Given the description of an element on the screen output the (x, y) to click on. 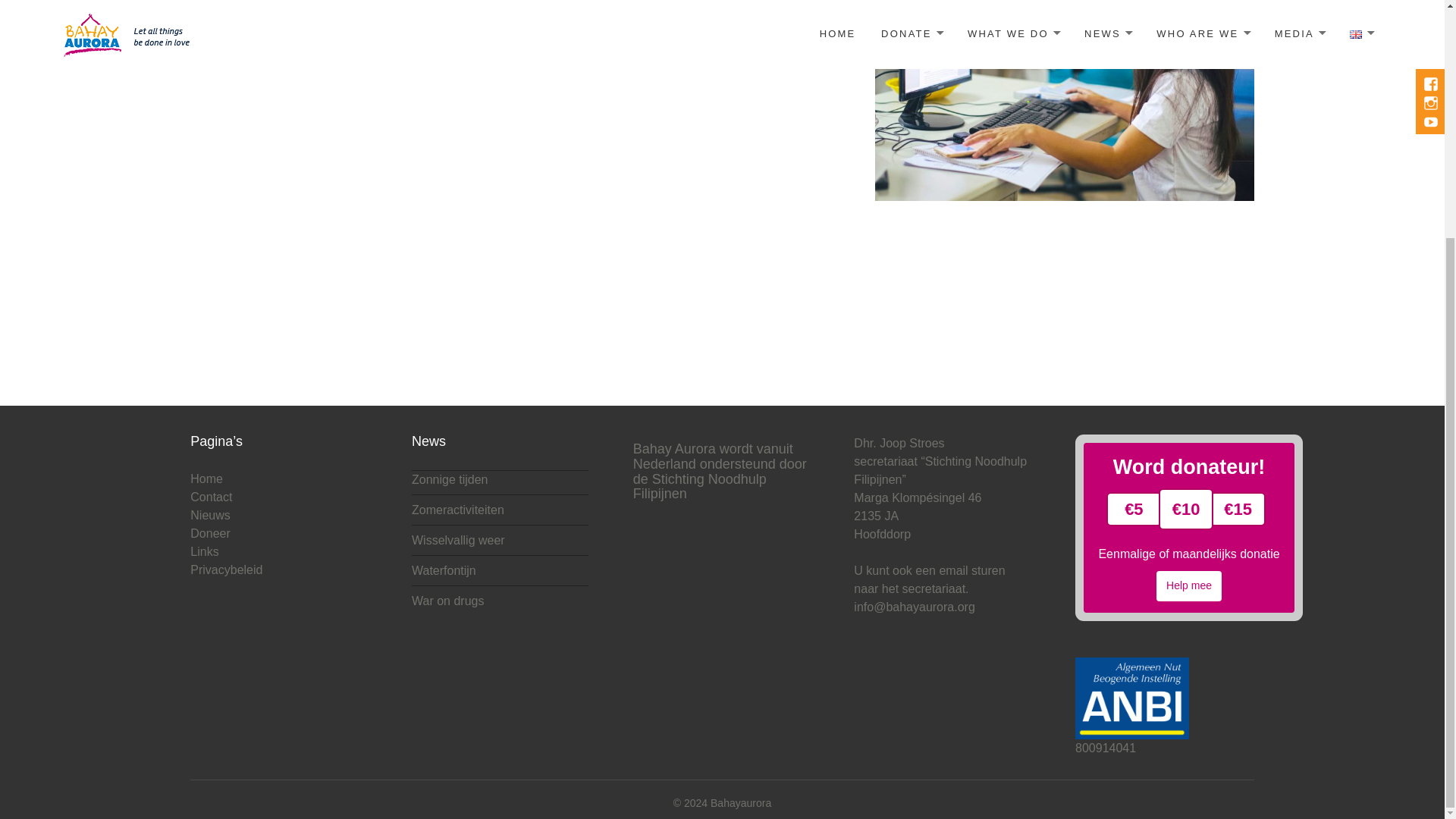
Home (206, 479)
Contact (210, 497)
Welkom op de website van Bahay Aurora! (740, 802)
Nieuws (210, 515)
